Given the description of an element on the screen output the (x, y) to click on. 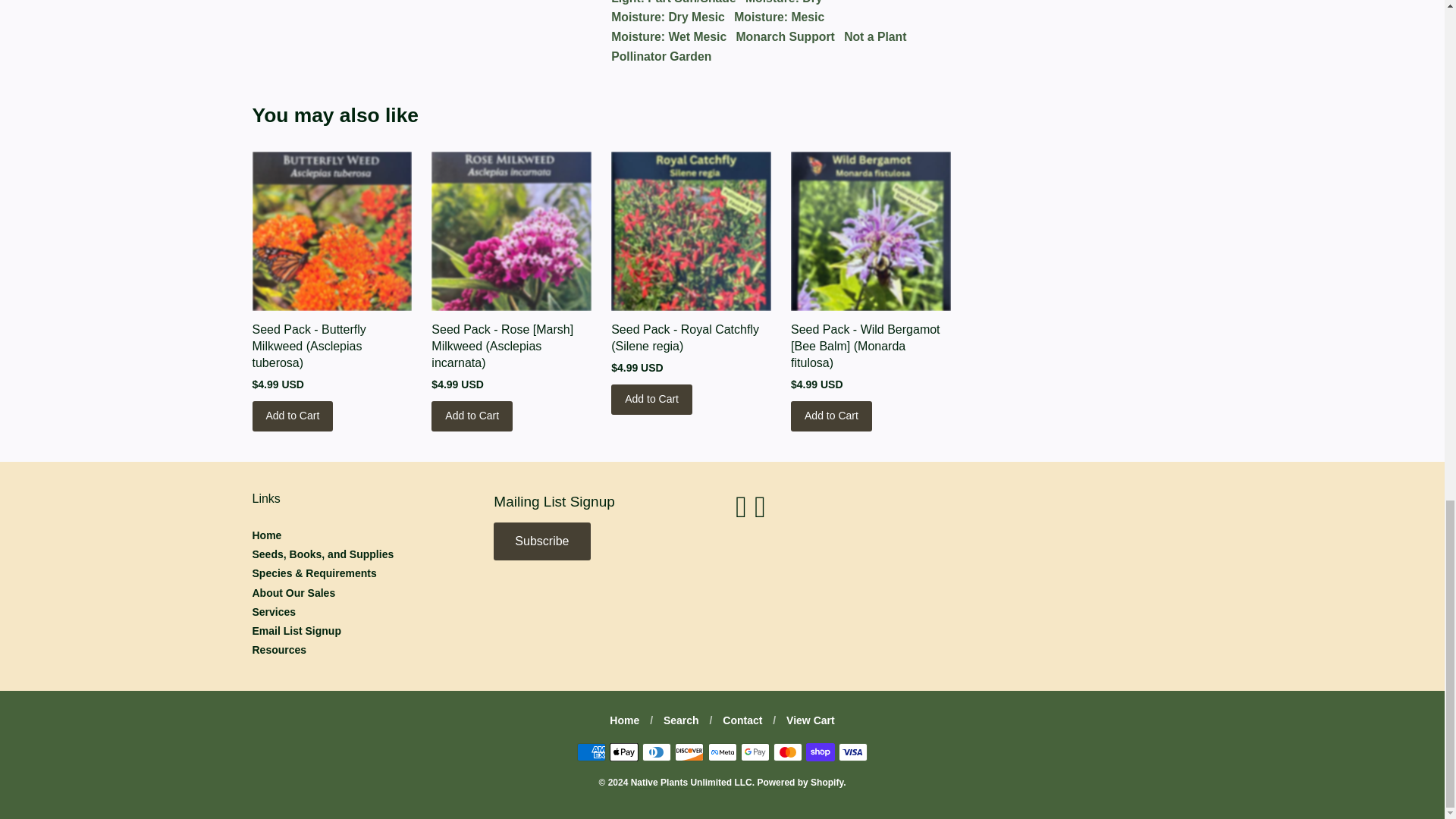
Meta Pay (721, 751)
Show products matching tag Moisture: Mesic (778, 17)
Apple Pay (624, 751)
Show products matching tag Moisture: Dry (783, 4)
Show products matching tag Moisture: Dry Mesic (668, 17)
Shop Pay (820, 751)
Diners Club (656, 751)
Show products matching tag Moisture: Wet Mesic (668, 36)
American Express (590, 751)
Discover (689, 751)
Visa (852, 751)
Mastercard (787, 751)
Google Pay (755, 751)
